Given the description of an element on the screen output the (x, y) to click on. 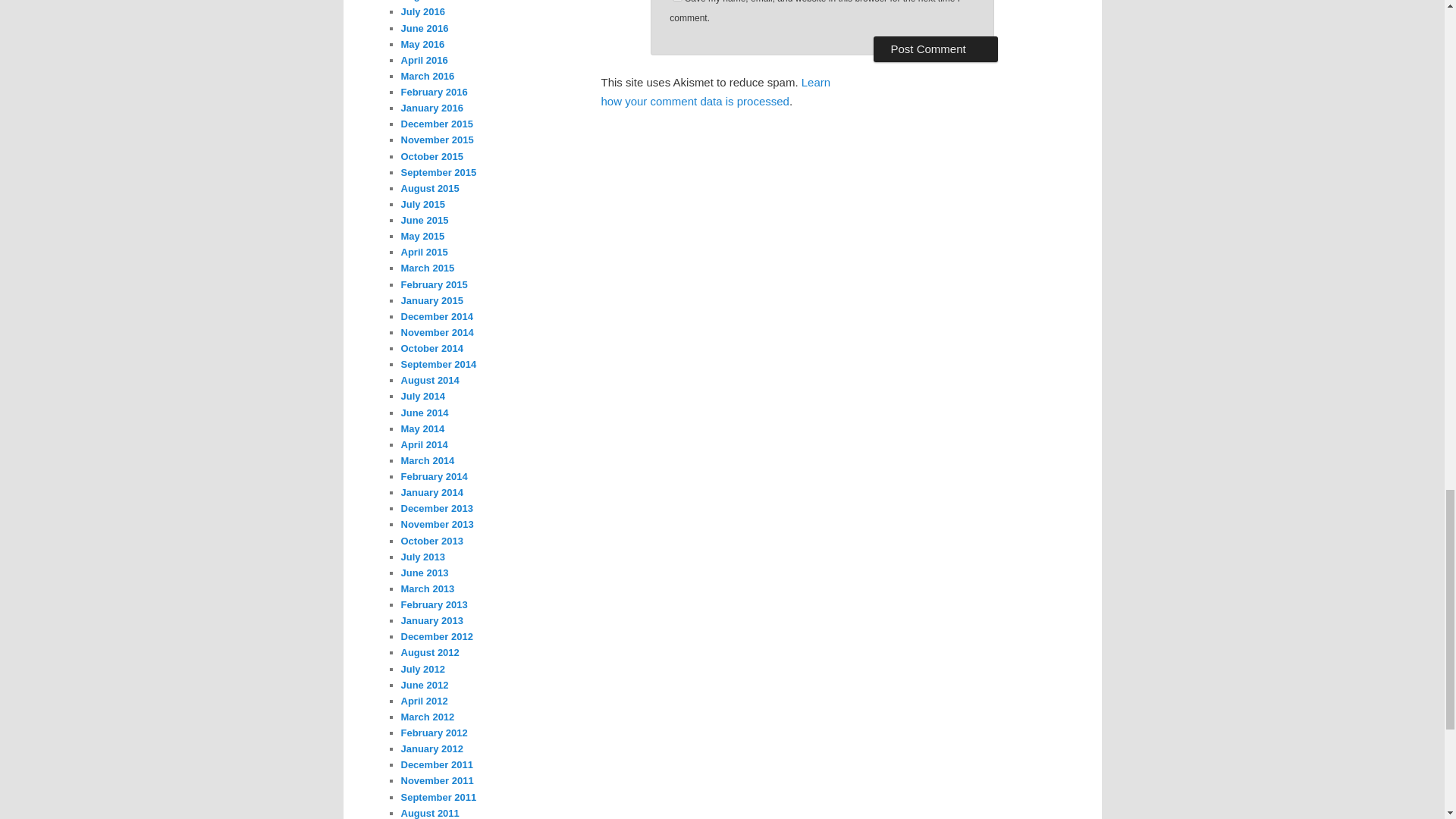
Post Comment (935, 49)
Learn how your comment data is processed (714, 91)
Post Comment (935, 49)
